Given the description of an element on the screen output the (x, y) to click on. 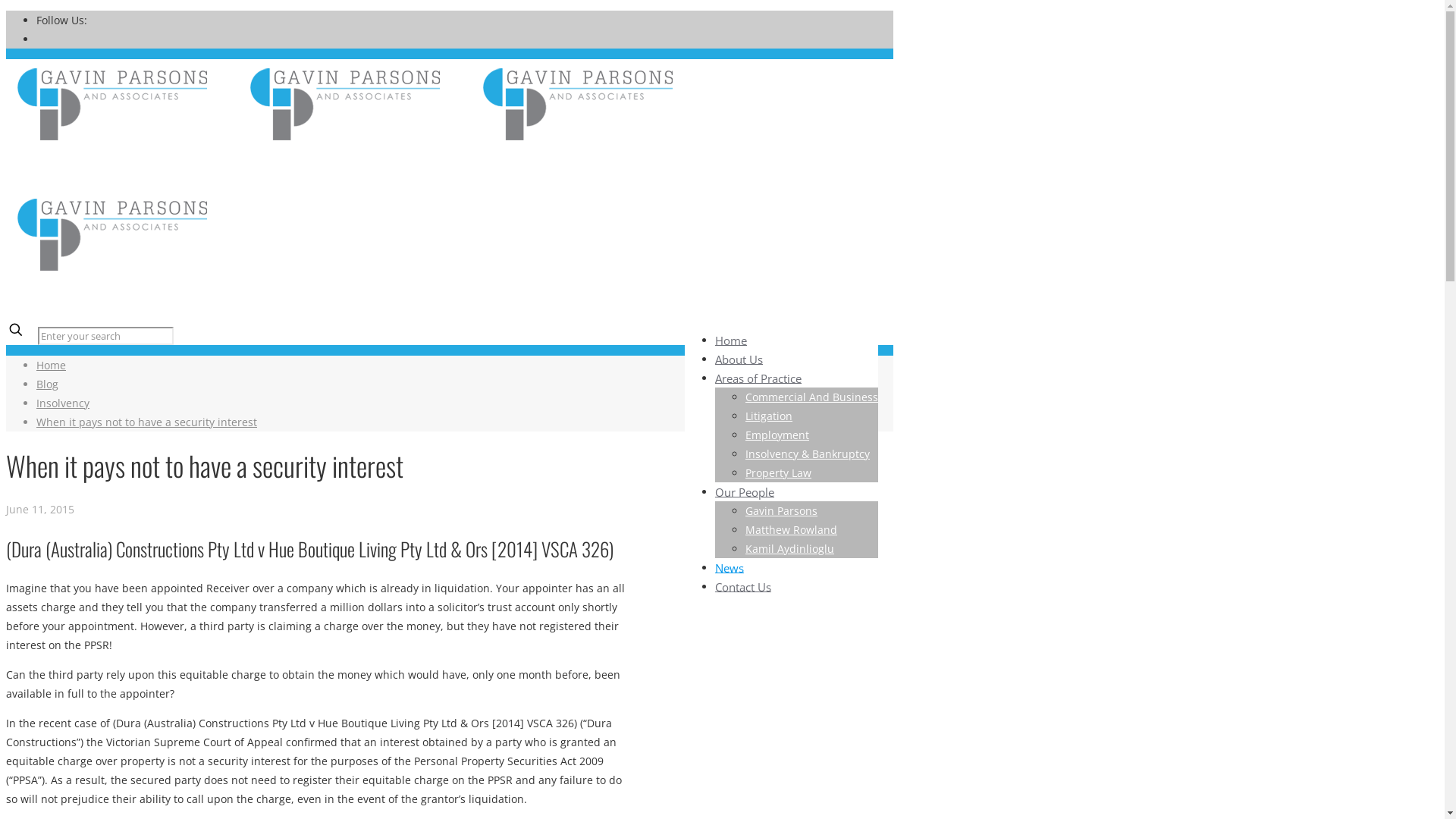
About Us Element type: text (738, 358)
Home Element type: text (730, 339)
Home Element type: text (50, 364)
News Element type: text (729, 567)
Matthew Rowland Element type: text (791, 529)
Areas of Practice Element type: text (758, 377)
Insolvency & Bankruptcy Element type: text (807, 453)
Gavin Parsons Element type: text (781, 510)
Our People Element type: text (744, 491)
Blog Element type: text (47, 383)
Commercial And Business Element type: text (811, 396)
When it pays not to have a security interest Element type: text (146, 421)
Gavin Parsons And Associates Element type: hover (355, 206)
Insolvency Element type: text (62, 402)
Property Law Element type: text (778, 472)
Contact Us Element type: text (743, 585)
Employment Element type: text (777, 434)
Kamil Aydinlioglu Element type: text (789, 548)
Litigation Element type: text (768, 415)
